Given the description of an element on the screen output the (x, y) to click on. 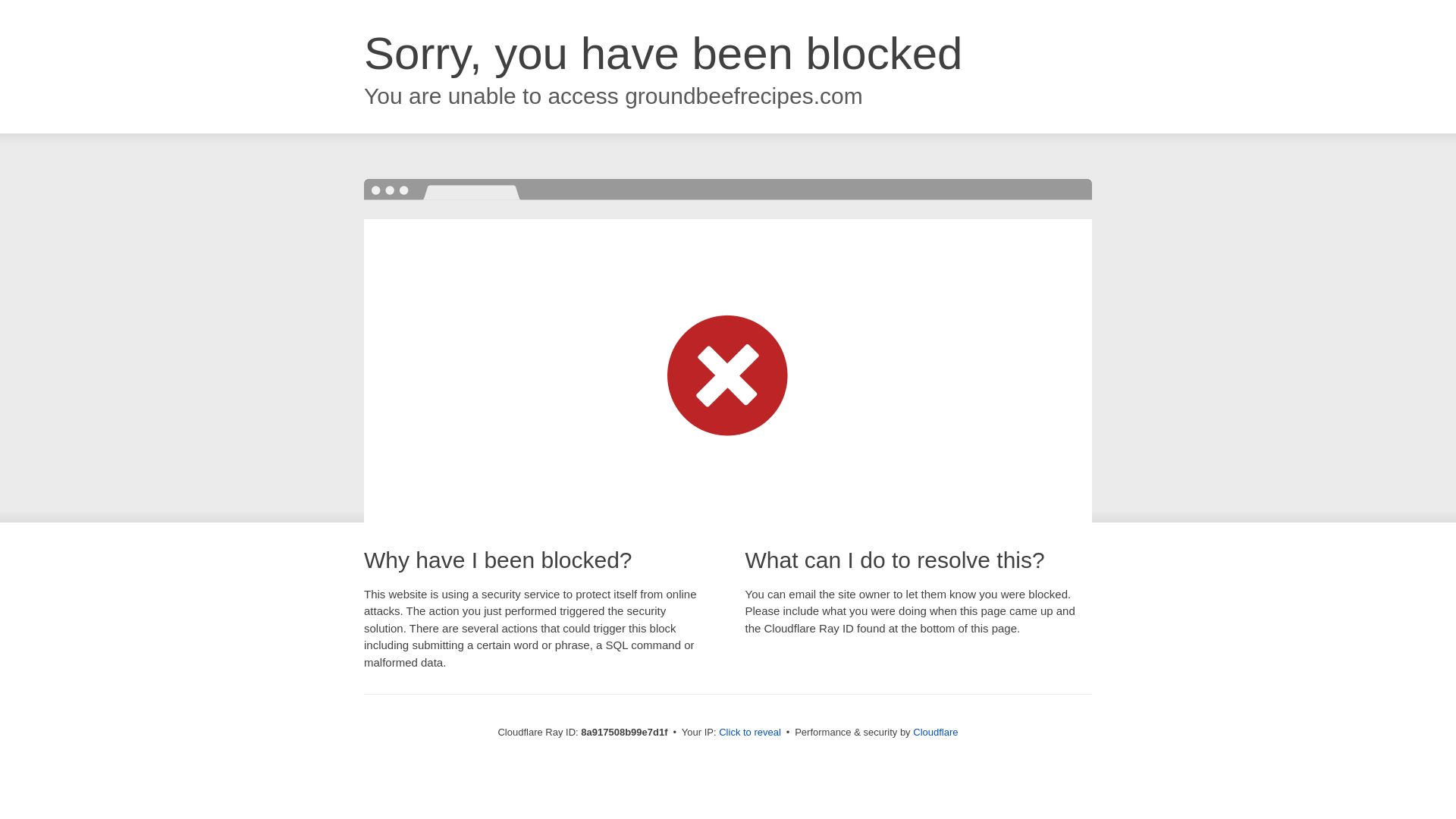
Click to reveal (749, 732)
Cloudflare (935, 731)
